Given the description of an element on the screen output the (x, y) to click on. 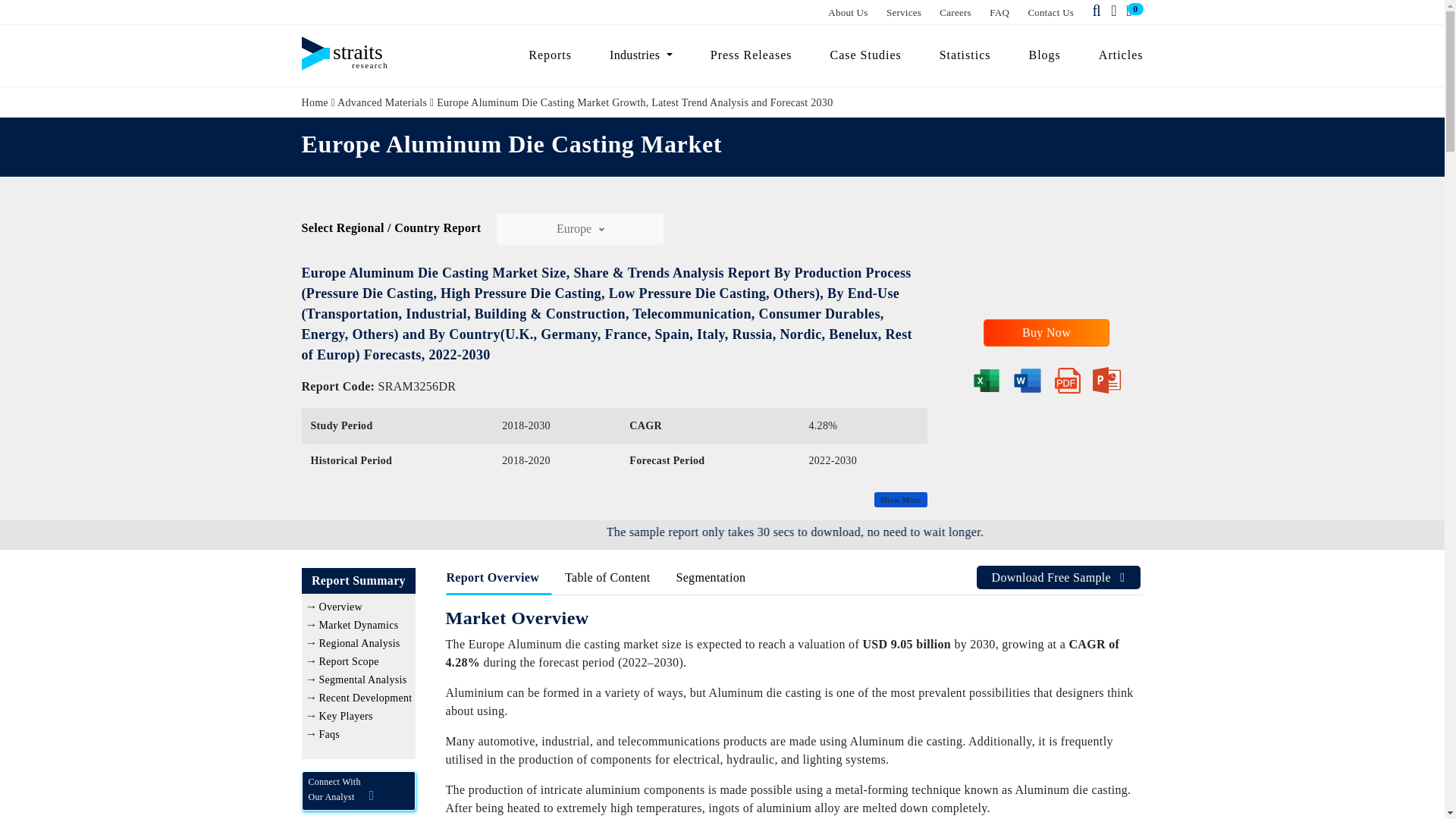
Statistics (965, 55)
Press Releases (750, 55)
Reports (549, 55)
Articles (1114, 55)
Contact Us (1050, 12)
Industries (641, 55)
Blogs (1044, 55)
Key Players (345, 715)
Report Scope (348, 661)
Faqs (328, 734)
FAQ (999, 12)
Home (315, 102)
Regional Analysis (358, 643)
Cart (1130, 11)
About Us (847, 12)
